Given the description of an element on the screen output the (x, y) to click on. 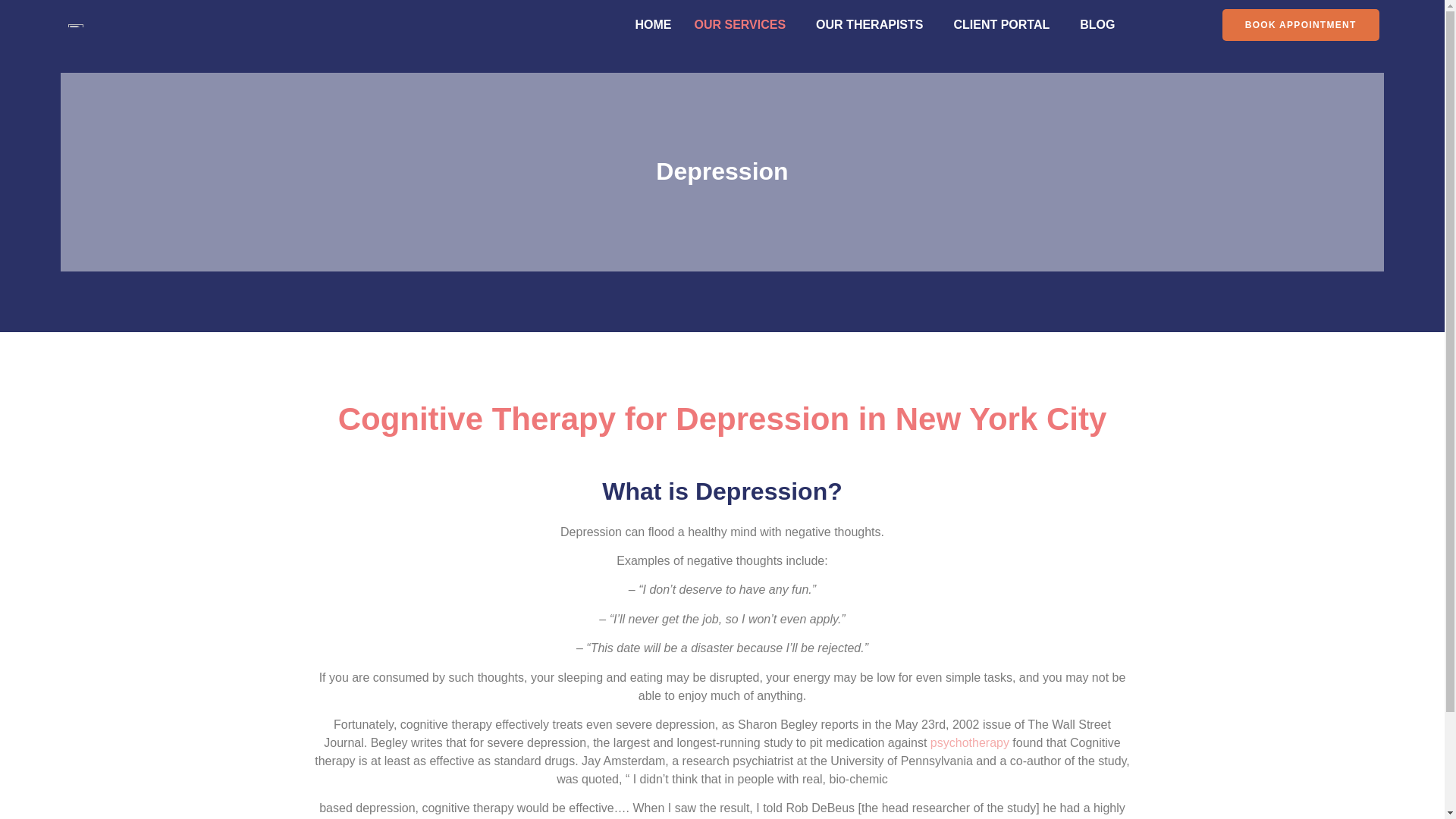
psychotherapy (969, 742)
BLOG (1096, 24)
OUR THERAPISTS (873, 24)
OUR SERVICES (743, 24)
HOME (652, 24)
BOOK APPOINTMENT (1300, 24)
CLIENT PORTAL (1005, 24)
